Given the description of an element on the screen output the (x, y) to click on. 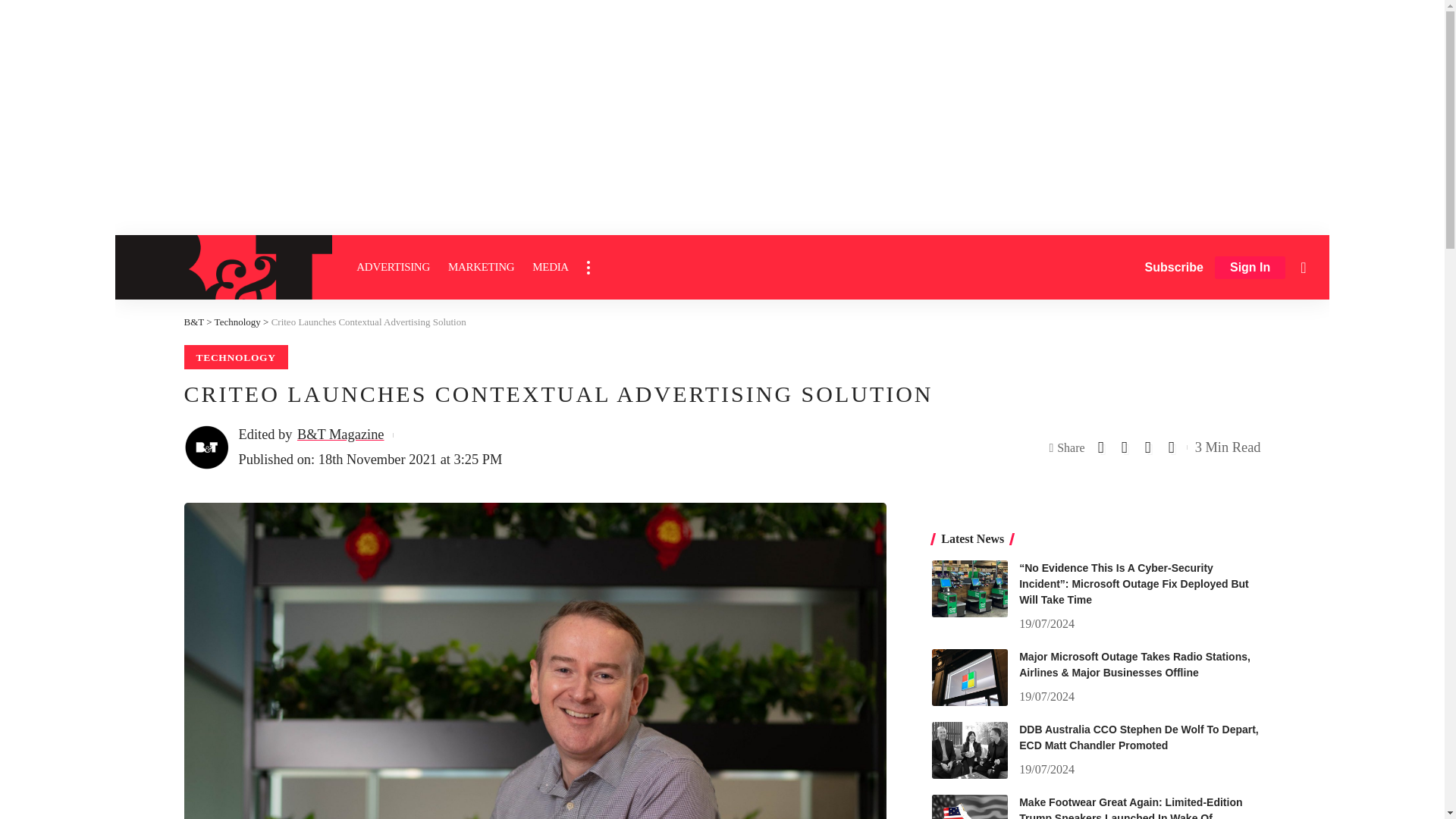
Subscribe (1174, 267)
ADVERTISING (393, 267)
Go to the Technology Category archives. (237, 321)
MARKETING (480, 267)
Sign In (1249, 267)
